Given the description of an element on the screen output the (x, y) to click on. 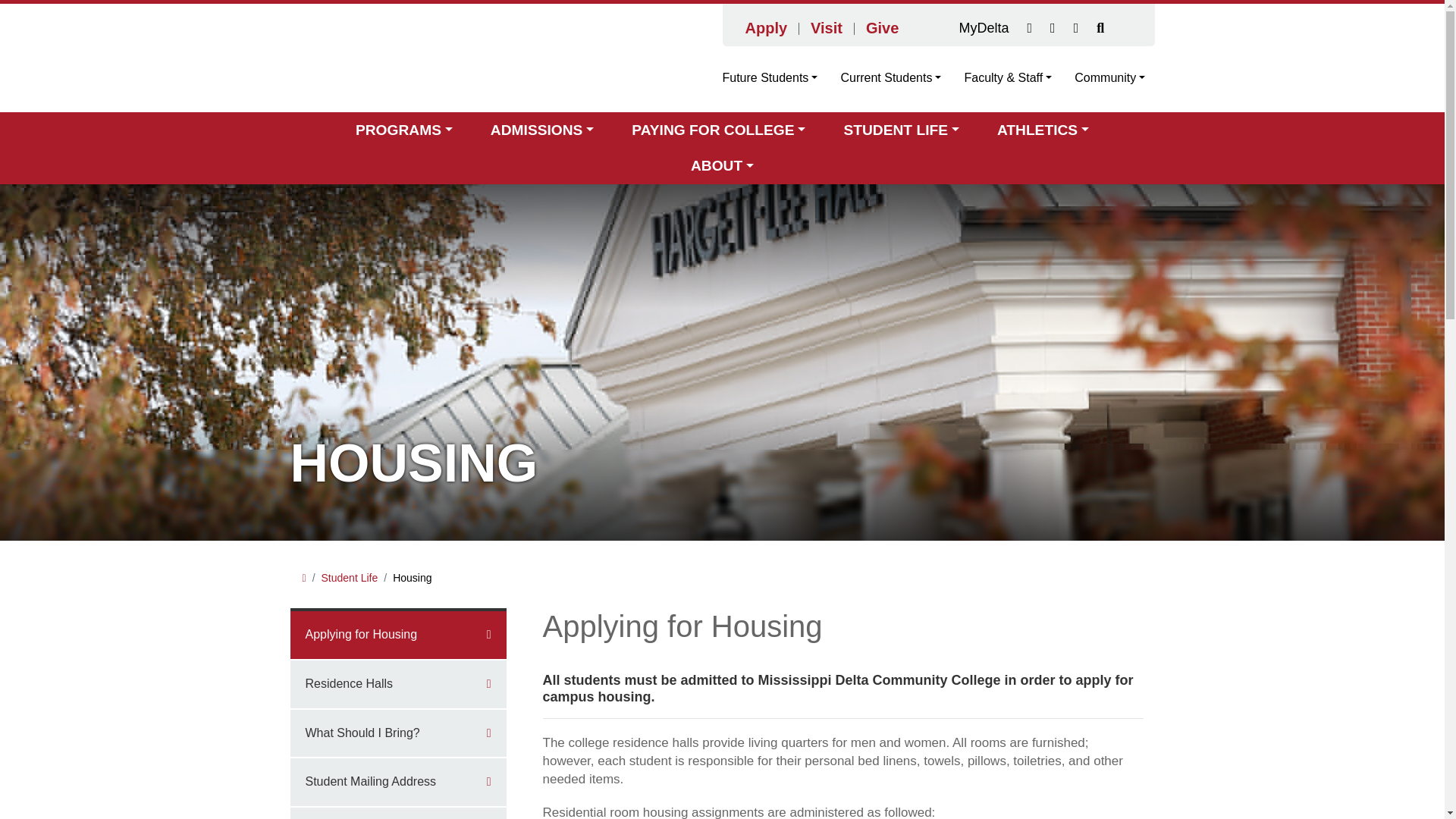
Future Students (775, 77)
Current Students (890, 77)
Give (882, 27)
Visit (826, 27)
Search (1100, 28)
Locations (1029, 28)
Calendar (1075, 28)
Directory (1052, 28)
Apply (766, 27)
MyDelta (983, 28)
